Given the description of an element on the screen output the (x, y) to click on. 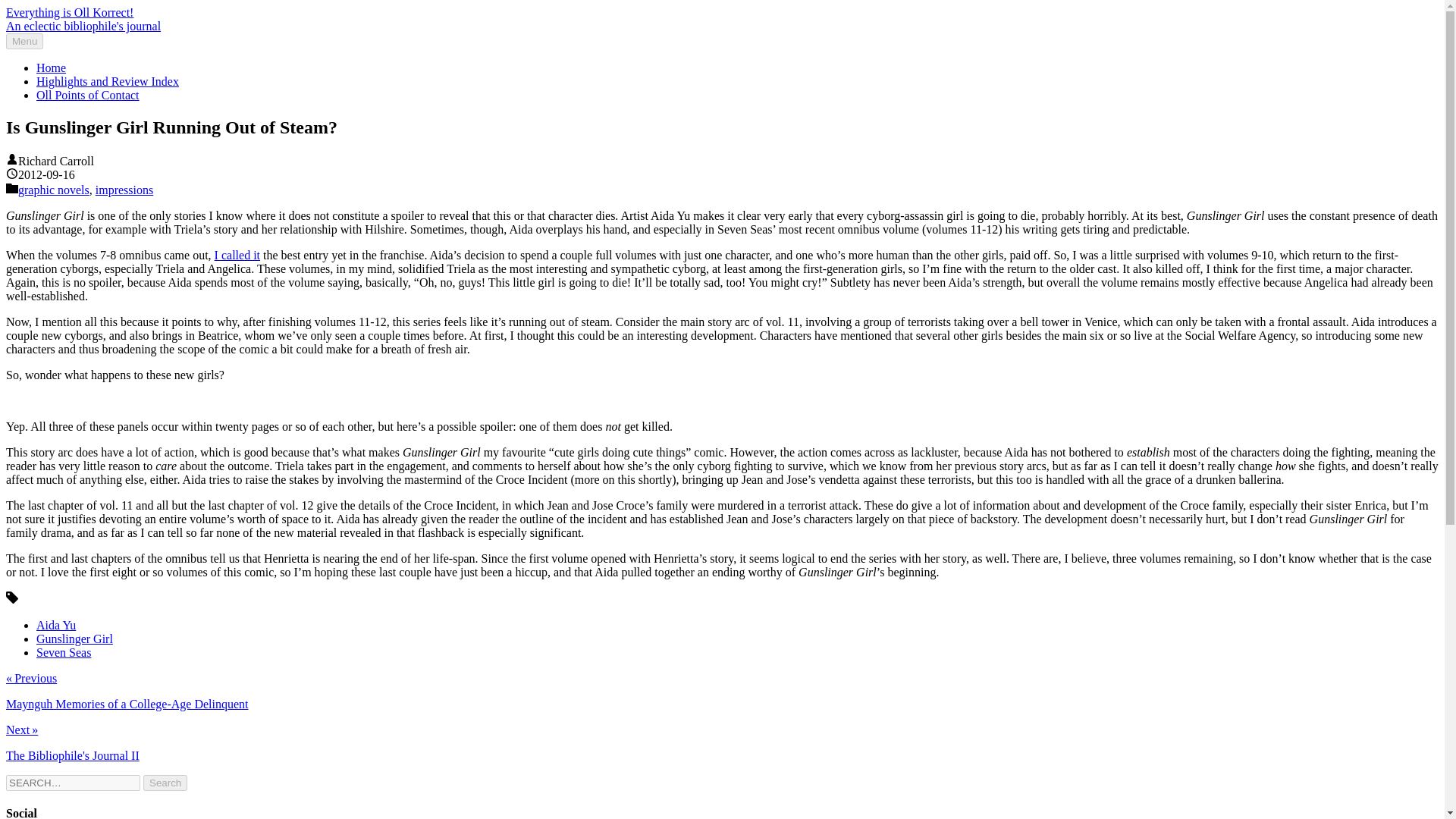
Search (164, 782)
I called it (237, 254)
graphic novels (52, 189)
impressions (124, 189)
Home (50, 67)
Search (164, 782)
Oll Points of Contact (87, 94)
Aida Yu (55, 625)
Seven Seas (63, 652)
Menu (24, 41)
Search (164, 782)
Highlights and Review Index (107, 81)
Gunslinger Girl (74, 638)
